Given the description of an element on the screen output the (x, y) to click on. 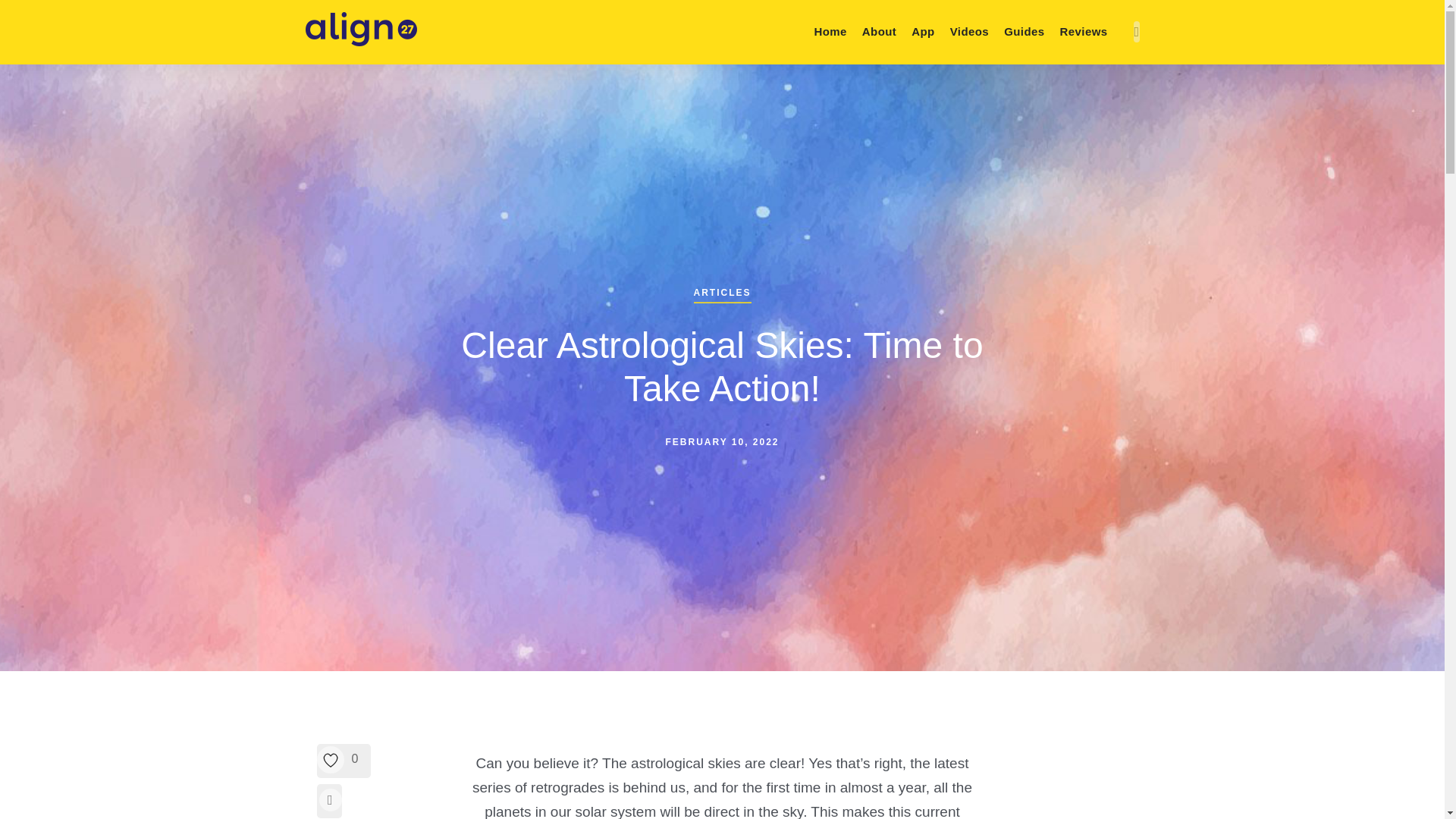
Reviews (1083, 31)
Videos (968, 31)
Reviews (1083, 31)
0 (344, 760)
ARTICLES (722, 286)
Guides (1023, 31)
App (923, 31)
Videos (968, 31)
About (879, 31)
Home (830, 31)
Home (830, 31)
Guides (1023, 31)
About (879, 31)
App (923, 31)
